Given the description of an element on the screen output the (x, y) to click on. 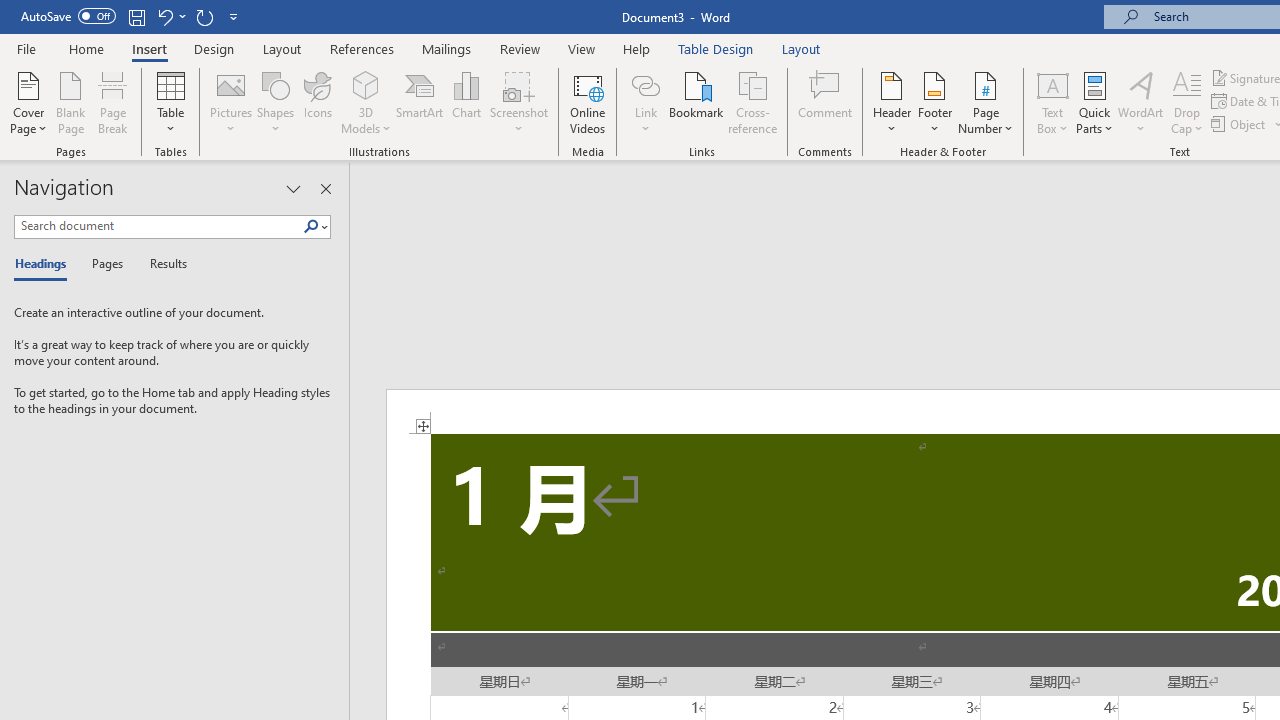
Text Box (1052, 102)
Footer (934, 102)
Chart... (466, 102)
